Given the description of an element on the screen output the (x, y) to click on. 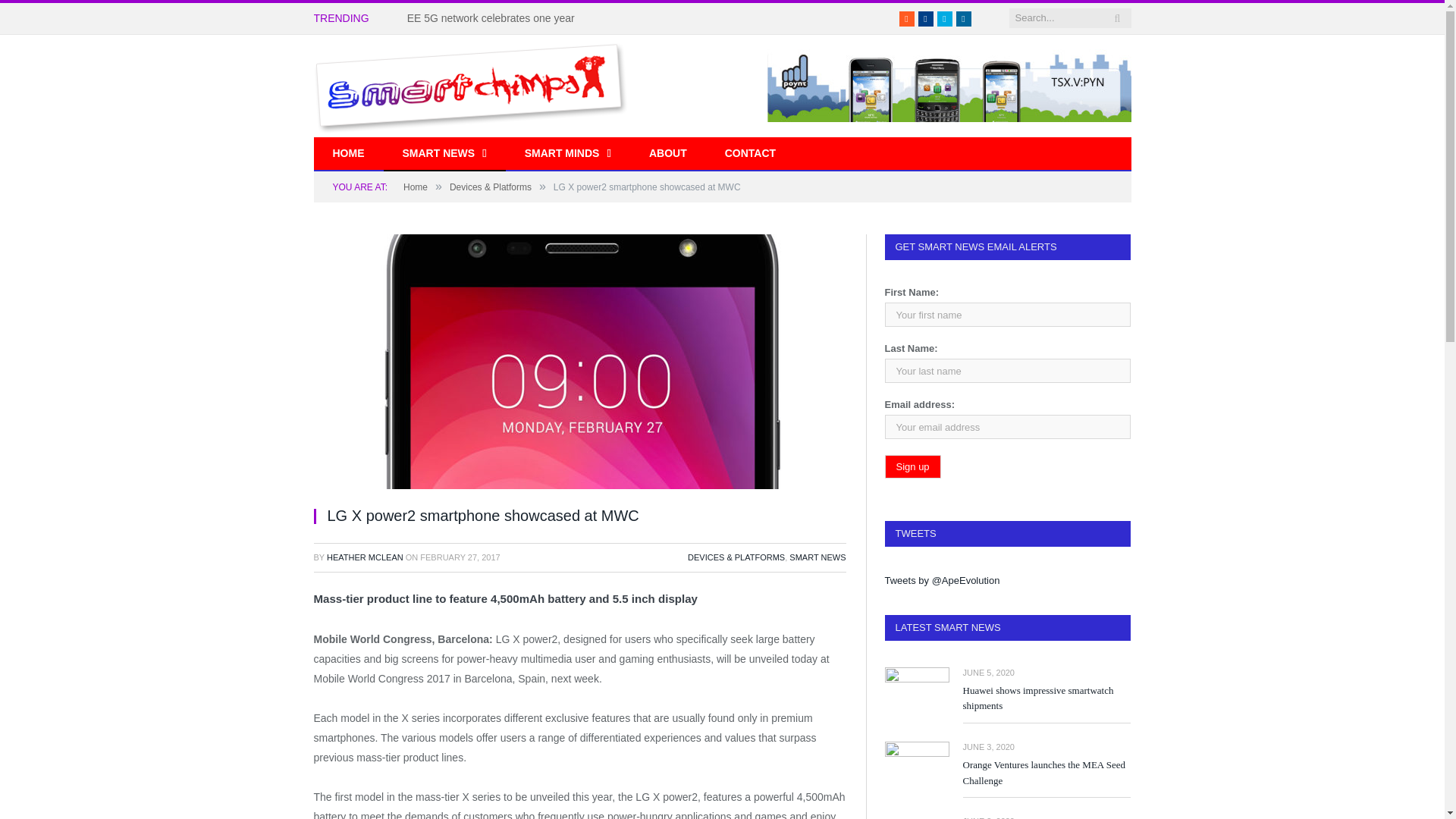
Twitter (944, 18)
Facebook (925, 18)
HOME (349, 154)
EE 5G network celebrates one year (494, 18)
SMART NEWS (444, 154)
EE 5G network celebrates one year (494, 18)
Smartchimps (470, 85)
Sign up (911, 466)
RSS (906, 18)
LinkedIn (963, 18)
